Given the description of an element on the screen output the (x, y) to click on. 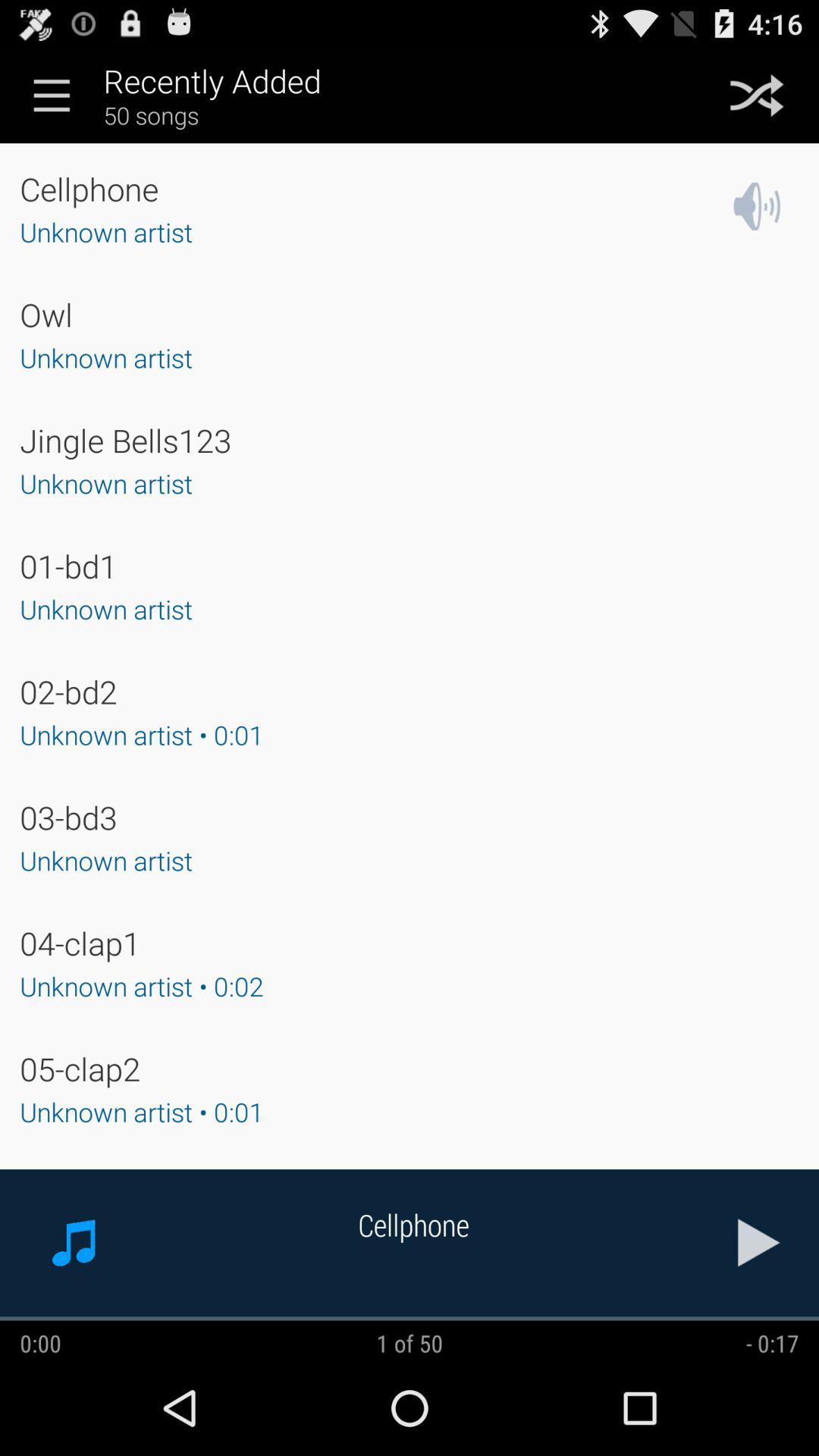
choose the item to the left of recently added icon (51, 95)
